Given the description of an element on the screen output the (x, y) to click on. 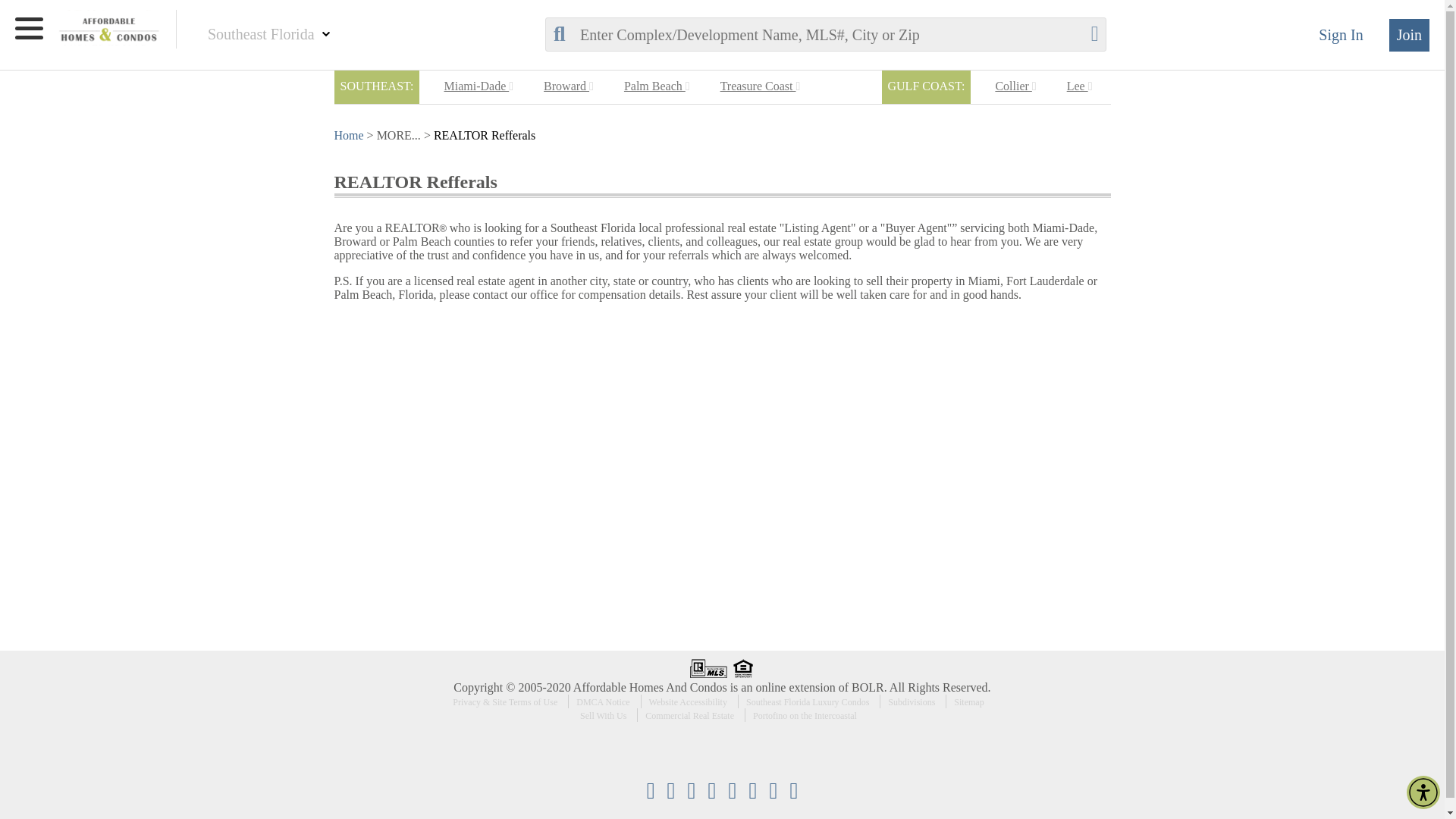
Sign In (1348, 34)
Accessibility Menu (1422, 792)
Southeast Florida (261, 34)
Sign In (1348, 34)
